Given the description of an element on the screen output the (x, y) to click on. 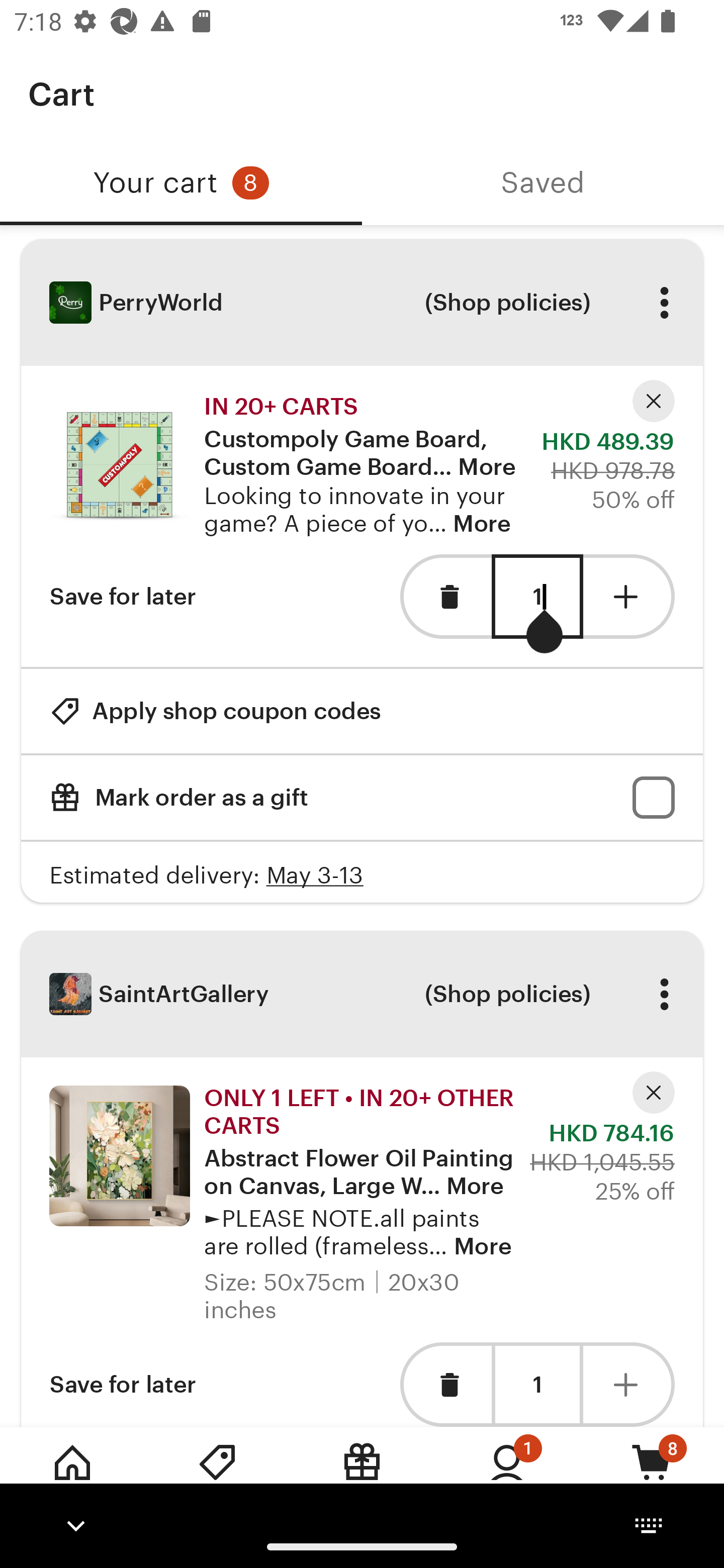
Saved, tab 2 of 2 Saved (543, 183)
PerryWorld (Shop policies) More options (361, 302)
(Shop policies) (507, 302)
More options (663, 302)
Save for later (122, 596)
Remove item from cart (445, 596)
Add one unit to cart (628, 596)
1 (537, 597)
Apply shop coupon codes (215, 710)
Mark order as a gift (361, 797)
SaintArtGallery (Shop policies) More options (361, 993)
(Shop policies) (507, 993)
More options (663, 993)
Save for later (122, 1384)
Remove item from cart (445, 1384)
Add one unit to cart (628, 1384)
1 (537, 1384)
Home (72, 1475)
Deals (216, 1475)
Gift Mode (361, 1475)
You, 1 new notification (506, 1475)
